Given the description of an element on the screen output the (x, y) to click on. 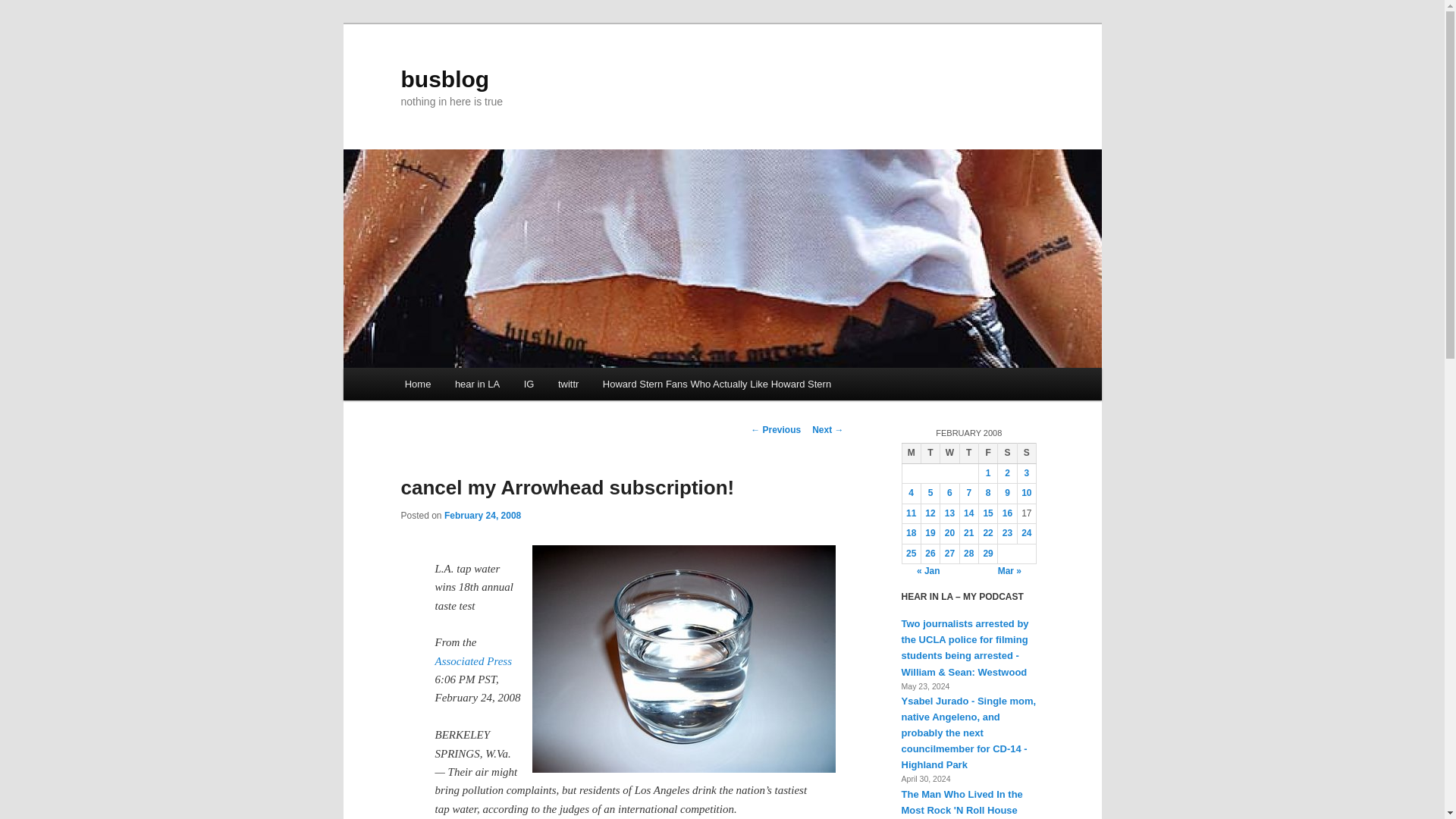
16 (1007, 512)
20 (949, 532)
19 (929, 532)
Howard Stern Fans Who Actually Like Howard Stern (717, 383)
4:24 pm (482, 515)
IG (529, 383)
Friday (987, 453)
twittr (568, 383)
13 (949, 512)
Sunday (1025, 453)
Monday (910, 453)
hear in LA (477, 383)
Thursday (968, 453)
Saturday (1006, 453)
